Given the description of an element on the screen output the (x, y) to click on. 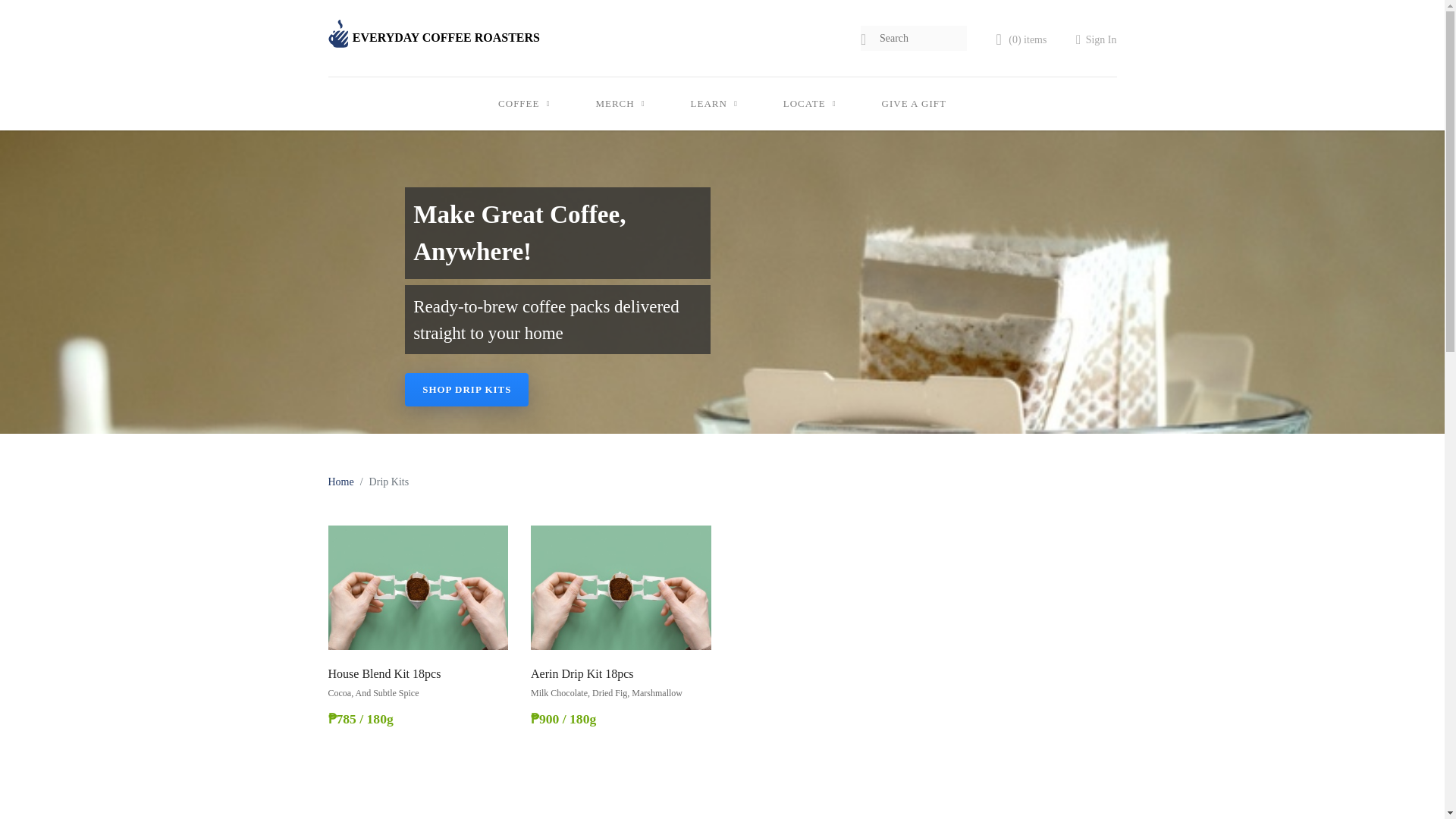
MERCH (619, 103)
Coffee Gift Box (914, 103)
SHOP DRIP KITS (466, 389)
EVERYDAY COFFEE ROASTERS (432, 37)
COFFEE (524, 103)
LOCATE (809, 103)
Sign In (1095, 39)
GIVE A GIFT (914, 103)
LEARN (714, 103)
Home (340, 481)
